Given the description of an element on the screen output the (x, y) to click on. 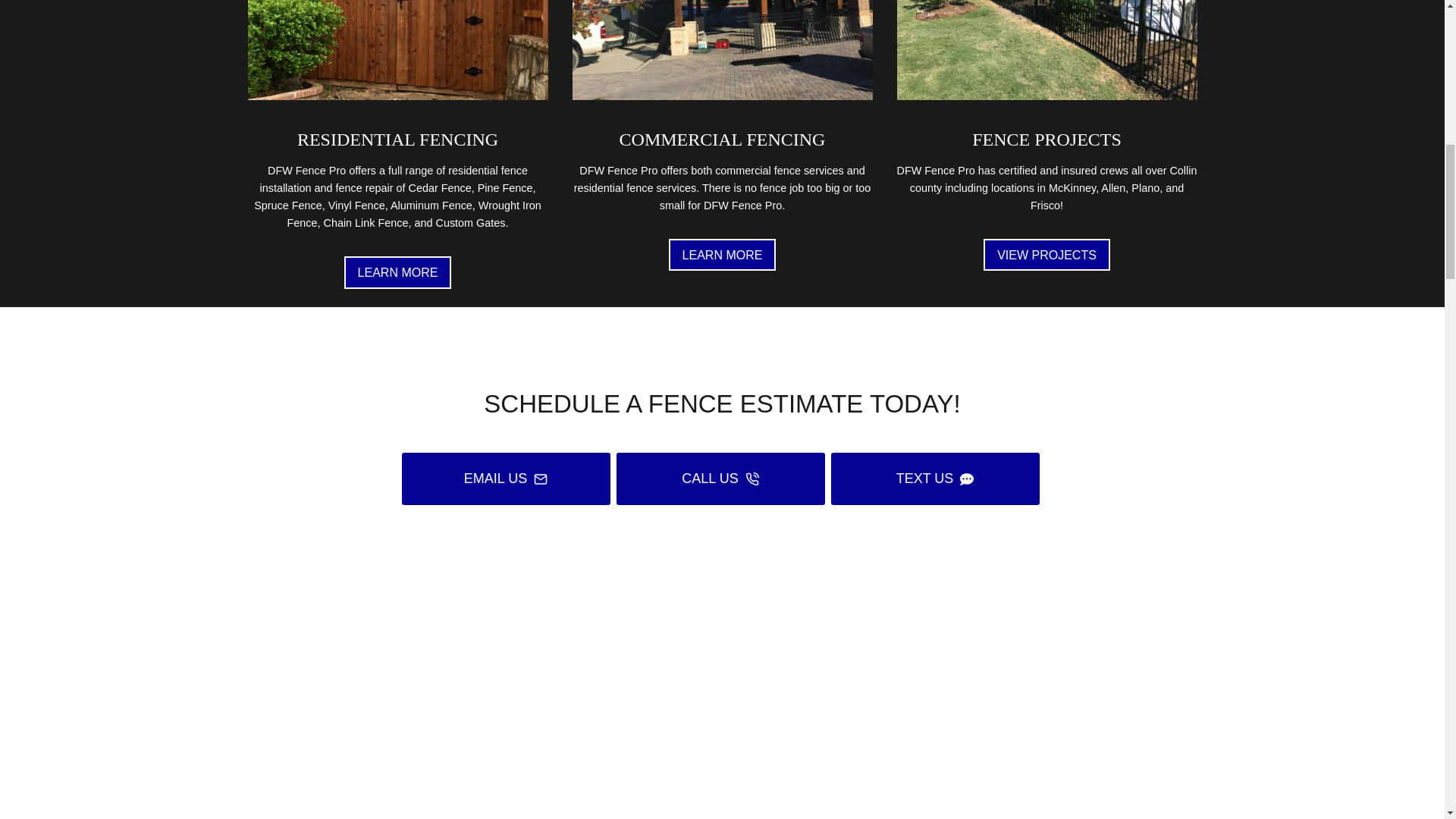
Residential Fence Installation (397, 49)
LEARN MORE (722, 255)
Commercial Fence Company (722, 49)
LEARN MORE (397, 272)
Fence Installation Portfolio (1046, 49)
EMAIL US (505, 478)
VIEW PROJECTS (1046, 255)
CALL US (719, 478)
TEXT US (935, 478)
